Given the description of an element on the screen output the (x, y) to click on. 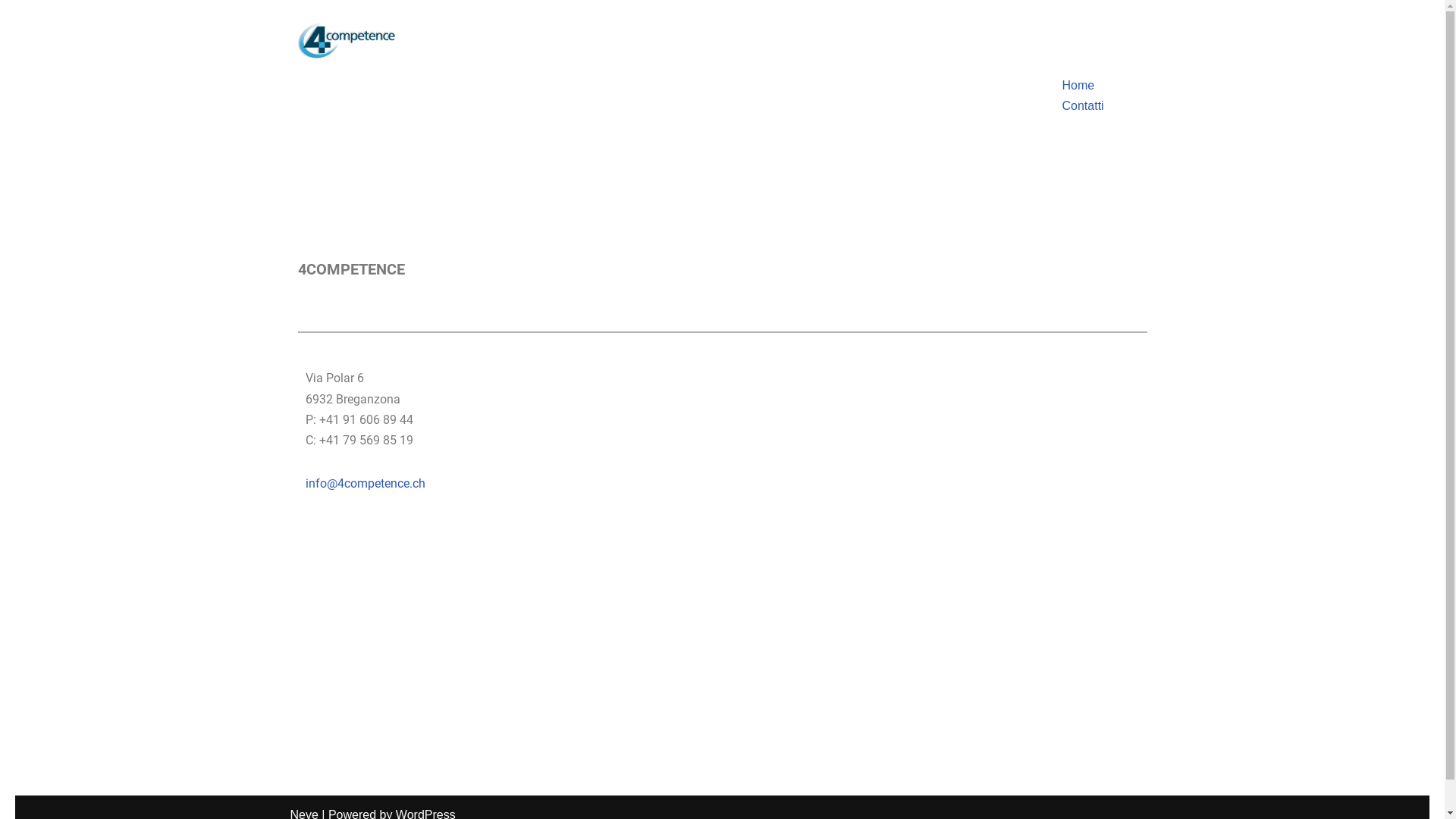
Contatti Element type: text (1082, 105)
info@4competence.ch Element type: text (364, 483)
logo Element type: hover (346, 40)
Skip to content Element type: text (26, 46)
Home Element type: text (1077, 84)
